Given the description of an element on the screen output the (x, y) to click on. 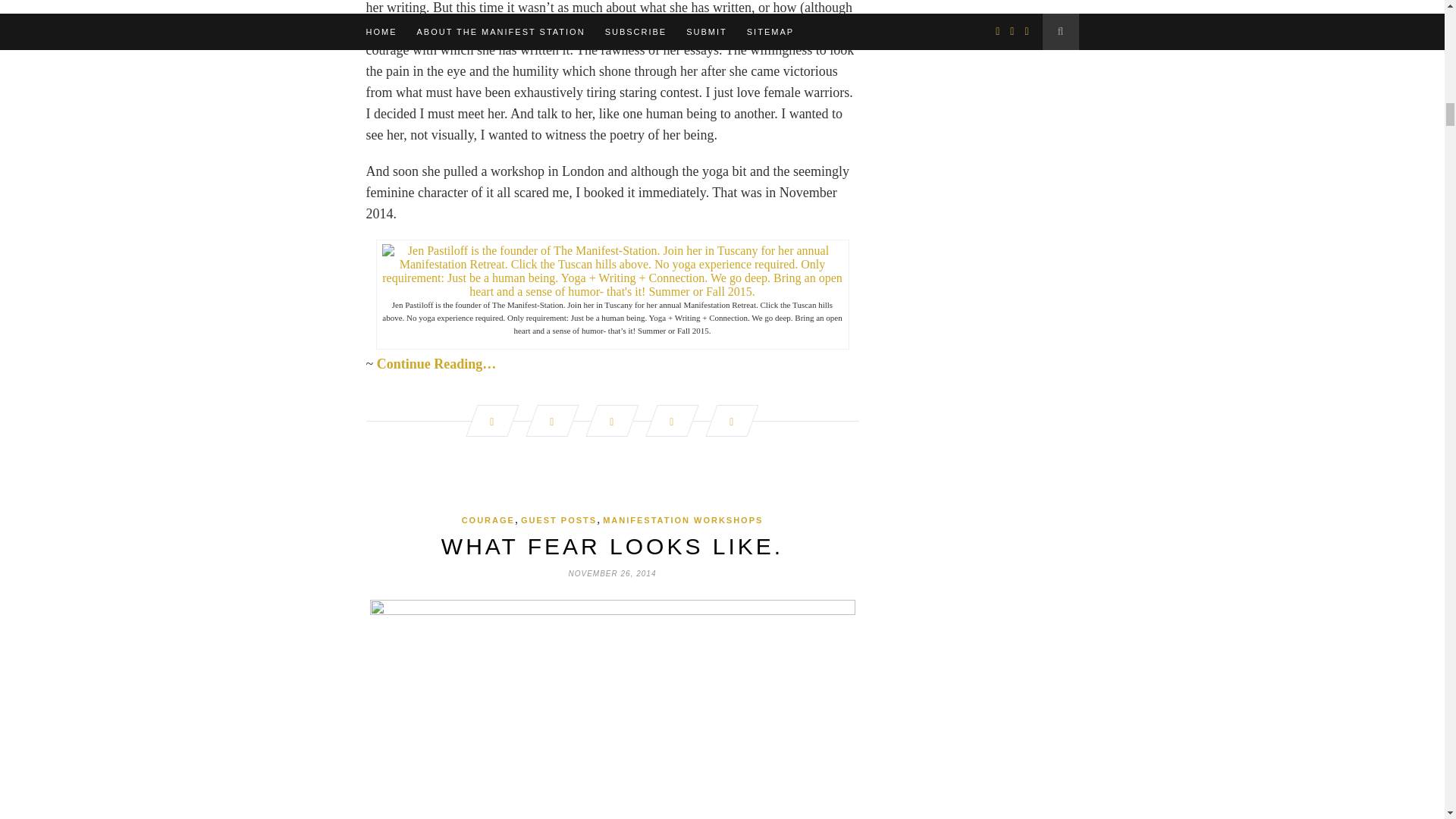
View all posts in Guest Posts (558, 519)
View all posts in Manifestation Workshops (682, 519)
View all posts in courage (488, 519)
